Given the description of an element on the screen output the (x, y) to click on. 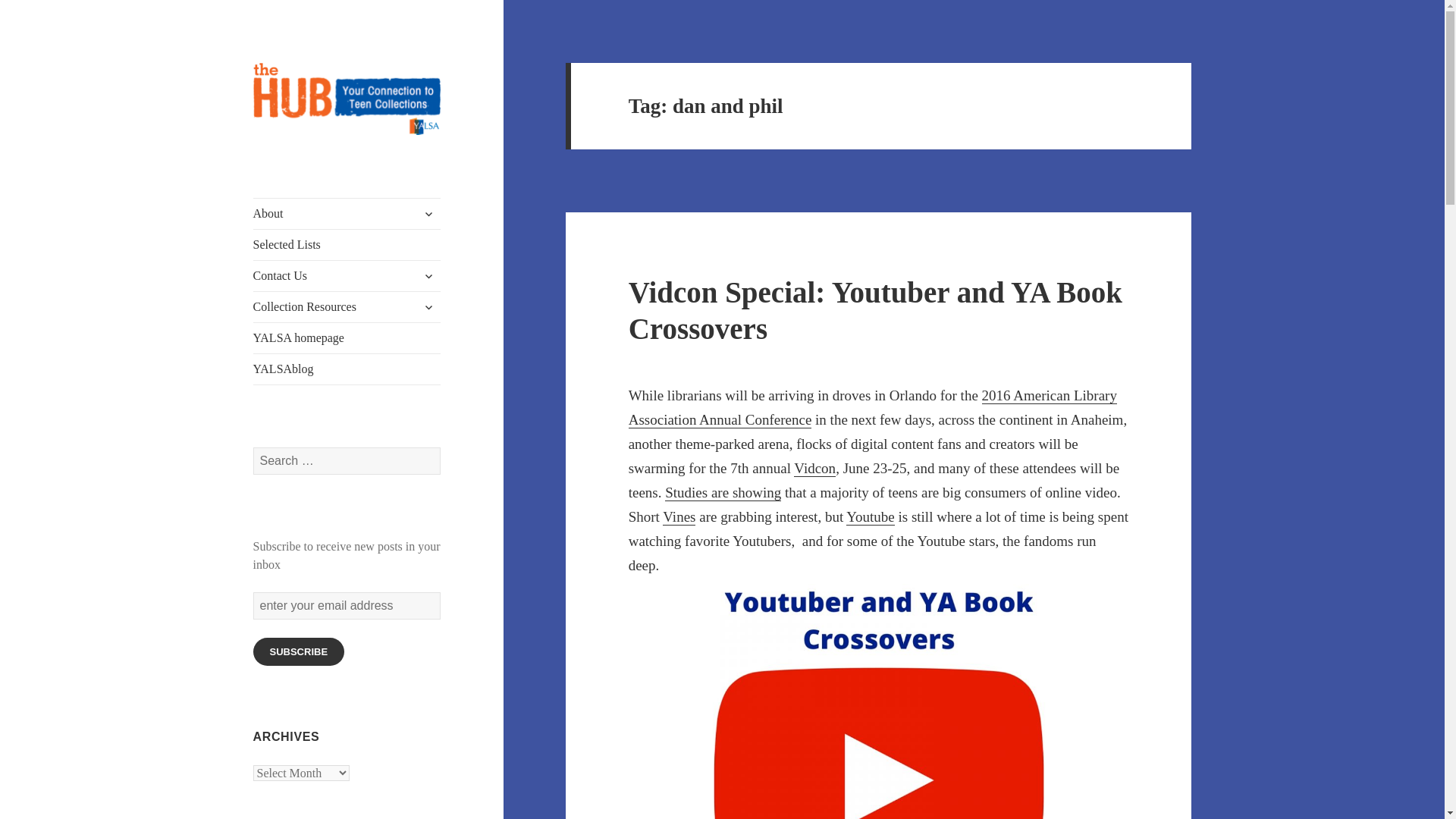
Vines (678, 516)
expand child menu (428, 213)
expand child menu (428, 275)
Youtube (870, 516)
Vidcon Special: Youtuber and YA Book Crossovers (875, 310)
YALSA homepage (347, 337)
2016 American Library Association Annual Conference (872, 407)
About (347, 214)
